Given the description of an element on the screen output the (x, y) to click on. 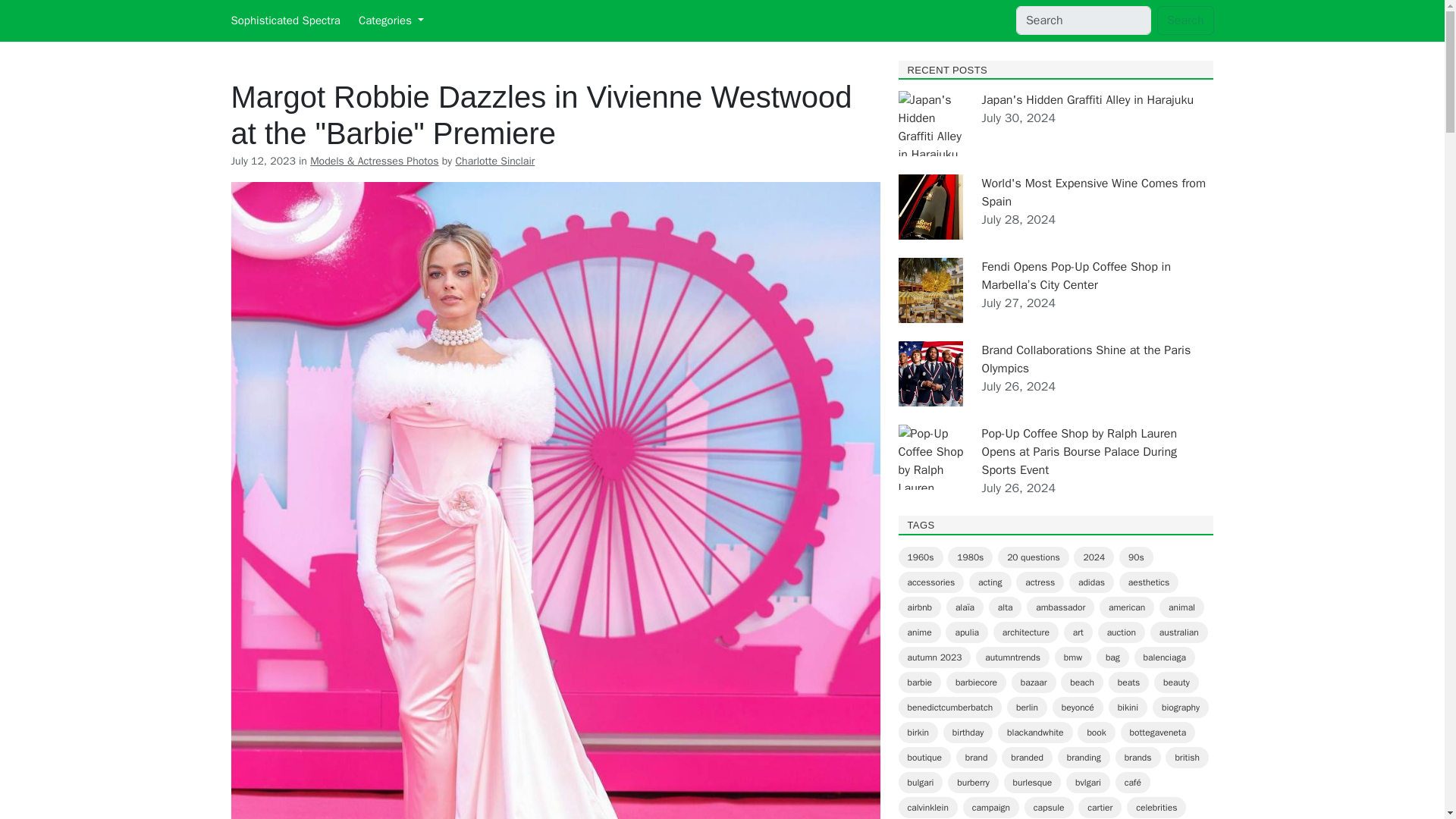
2024 (1093, 557)
1980s (969, 557)
Search (1185, 20)
Sophisticated Spectra (284, 20)
90s (1136, 557)
Japan's Hidden Graffiti Alley in Harajuku (1087, 99)
Brand Collaborations Shine at the Paris Olympics (1086, 359)
20 questions (1032, 557)
1960s (920, 557)
accessories (930, 581)
acting (989, 581)
Charlotte Sinclair (494, 160)
World's Most Expensive Wine Comes from Spain (1093, 192)
Categories (390, 20)
